Given the description of an element on the screen output the (x, y) to click on. 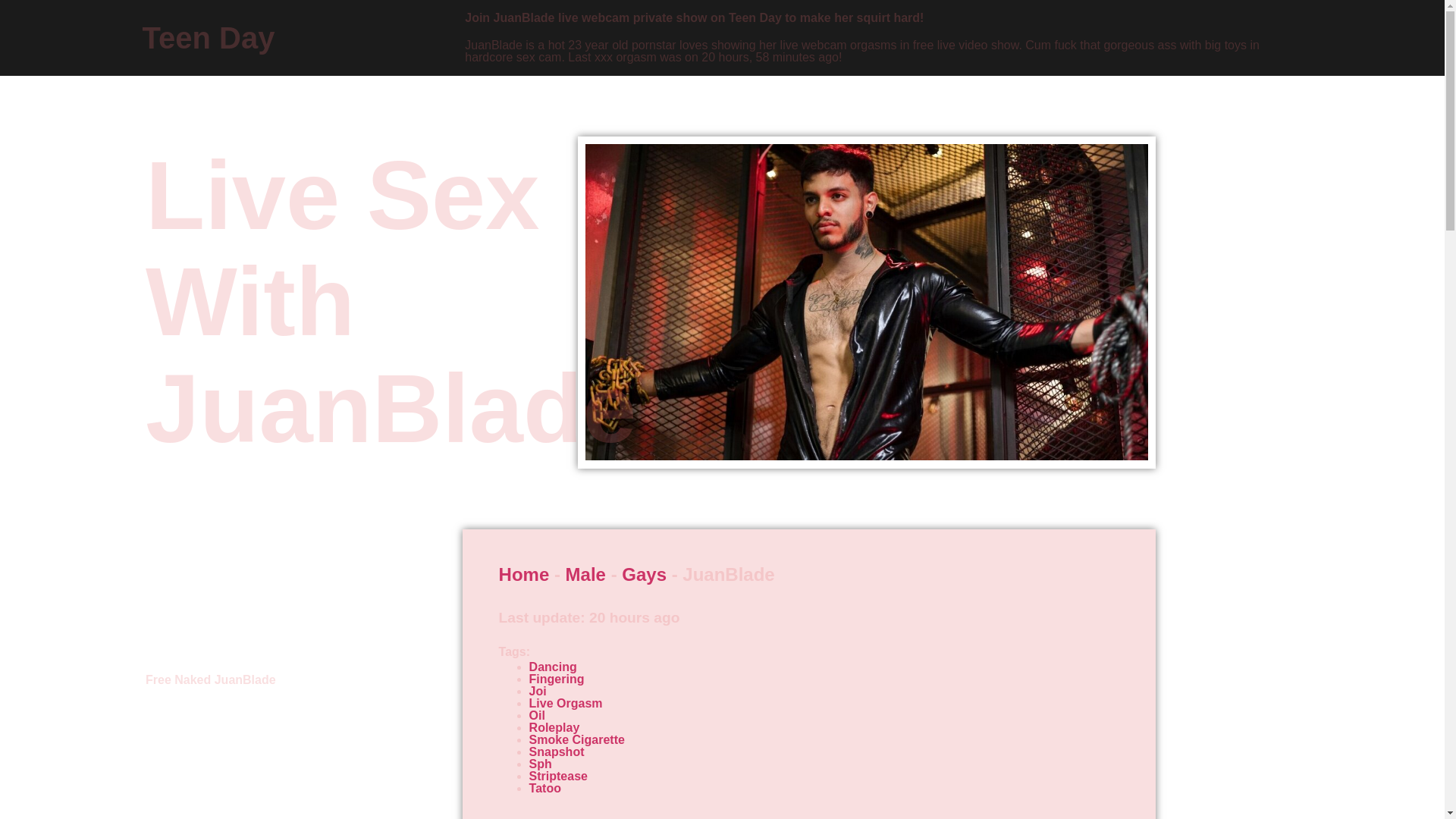
Snapshot (557, 751)
Teen Day (208, 37)
Fingering (557, 678)
Gays (643, 574)
Male (585, 574)
Gays (643, 574)
Smoke Cigarette (576, 739)
Teen Day (208, 37)
Oil (536, 715)
Roleplay (554, 727)
Joi (538, 690)
Sph (540, 763)
Fingering (557, 678)
Dancing (552, 666)
Live Orgasm (565, 703)
